Given the description of an element on the screen output the (x, y) to click on. 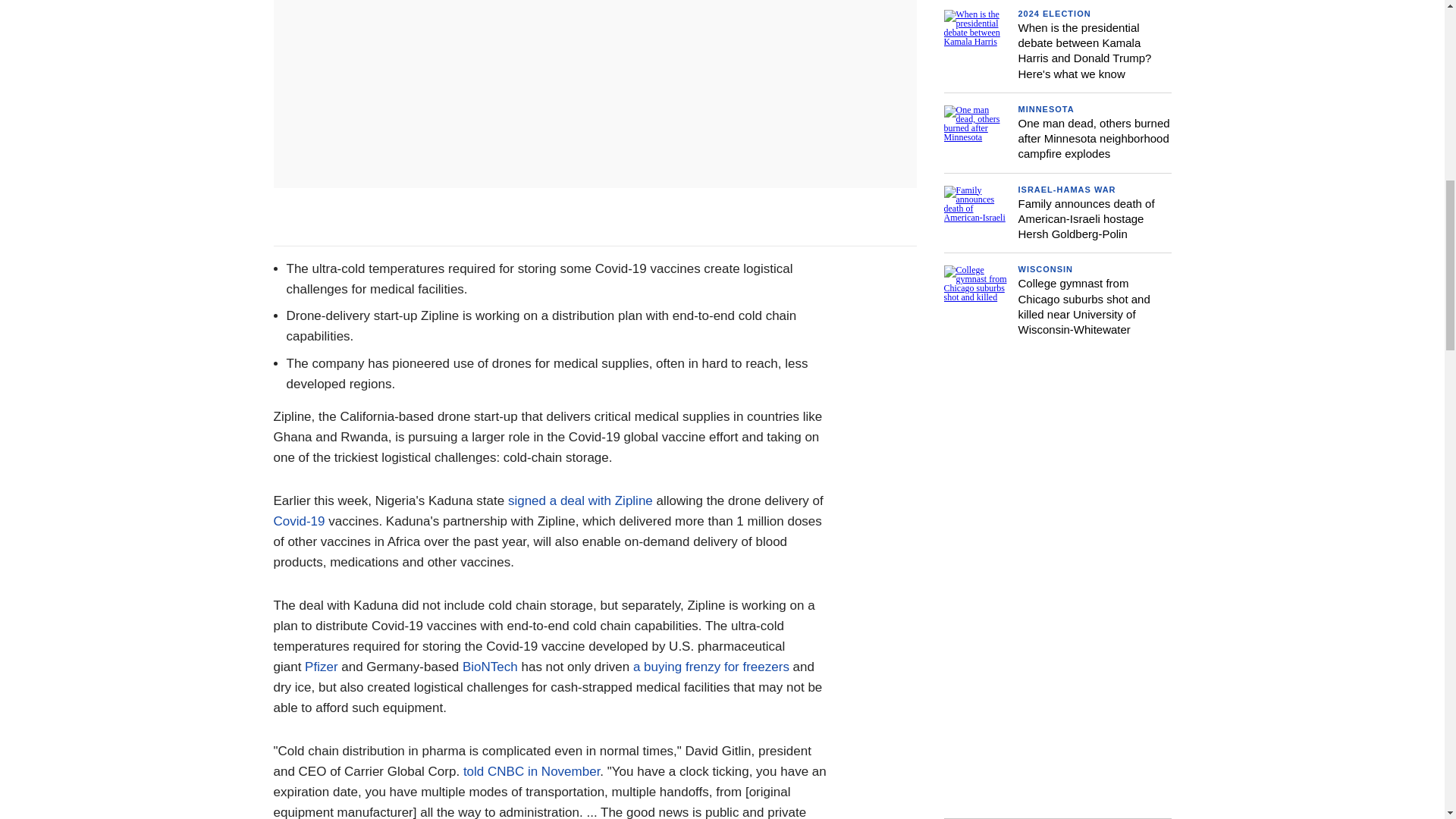
Pfizer (320, 667)
BioNTech (490, 667)
told CNBC in November (531, 771)
Covid-19 (298, 521)
a buying frenzy for freezers (711, 667)
signed a deal with Zipline (580, 500)
